Given the description of an element on the screen output the (x, y) to click on. 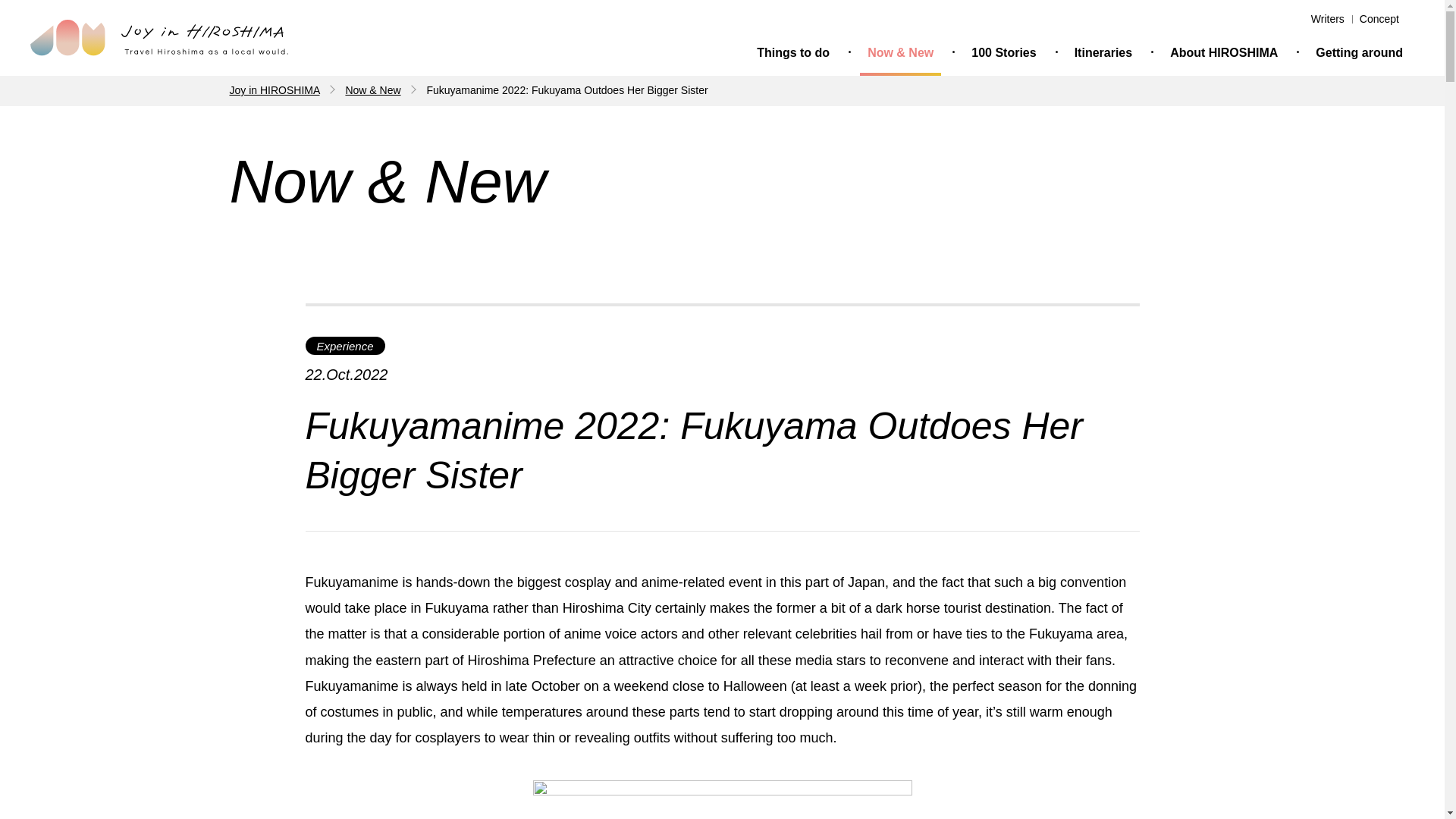
Joy in HIROSHIMA (273, 90)
Things to do (793, 56)
Itineraries (1103, 56)
About HIROSHIMA (1224, 56)
Writers (1327, 19)
Fukuyamanime 2022: Fukuyama Outdoes Her Bigger Sister (566, 90)
Concept (1379, 19)
Getting around (1359, 56)
100 Stories (1003, 56)
